Given the description of an element on the screen output the (x, y) to click on. 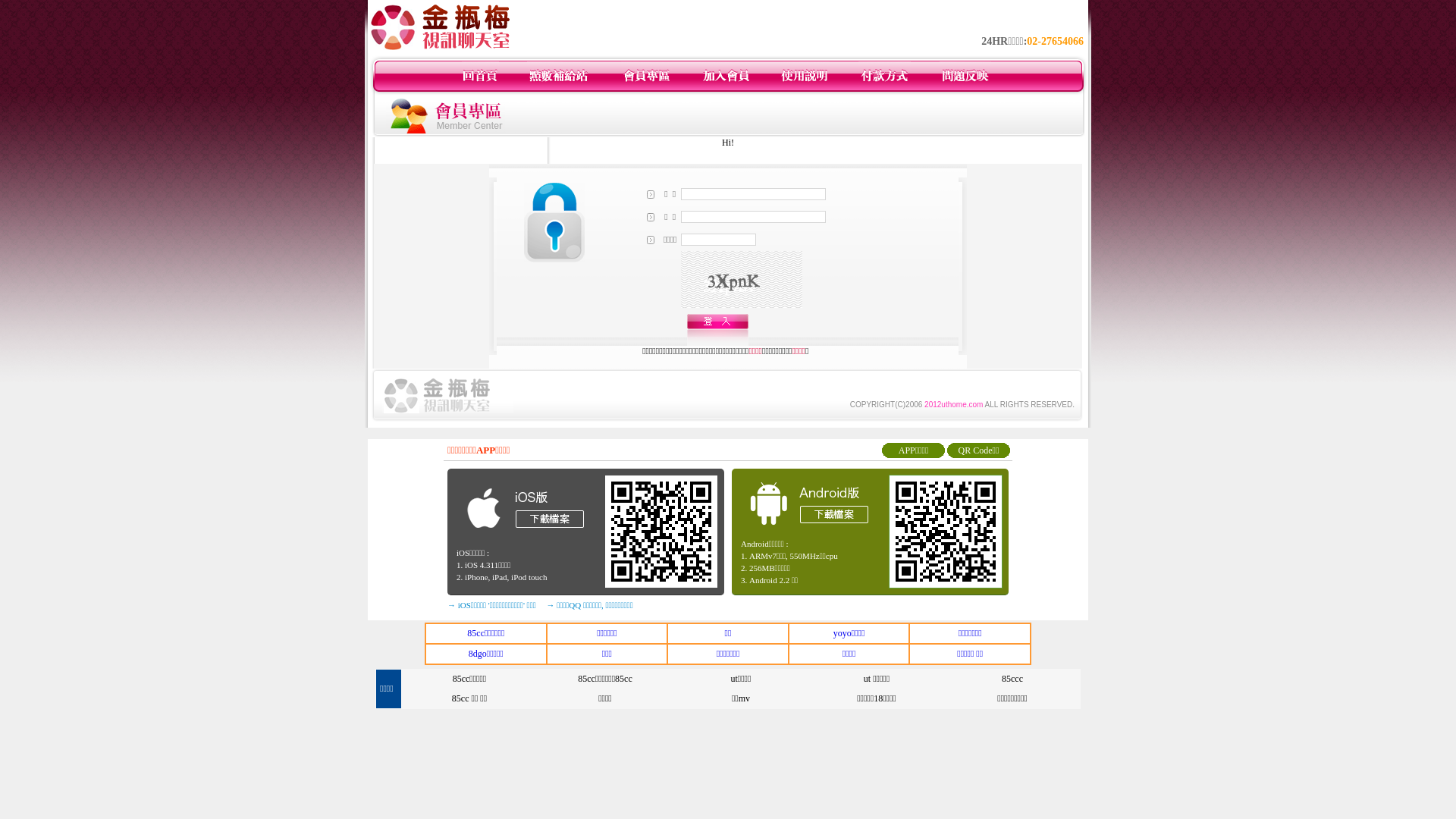
85ccc Element type: text (1011, 678)
